Given the description of an element on the screen output the (x, y) to click on. 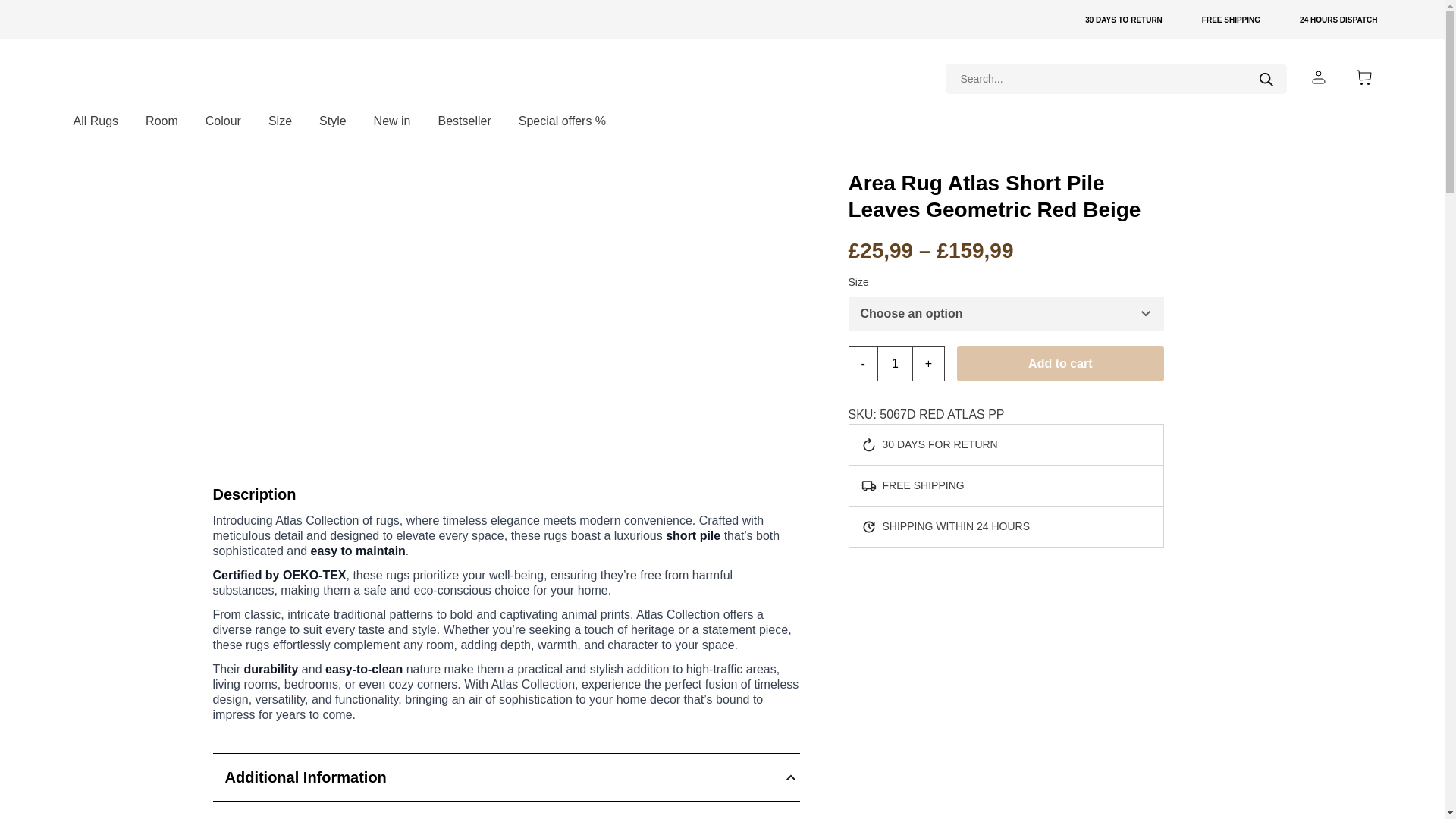
Room (162, 120)
Tapiso (139, 78)
All Rugs (95, 120)
1 (894, 363)
Your account (1318, 76)
Colour (223, 120)
update (1074, 19)
Cart (1363, 76)
All Rugs (95, 120)
Size (279, 120)
Room (162, 120)
